Given the description of an element on the screen output the (x, y) to click on. 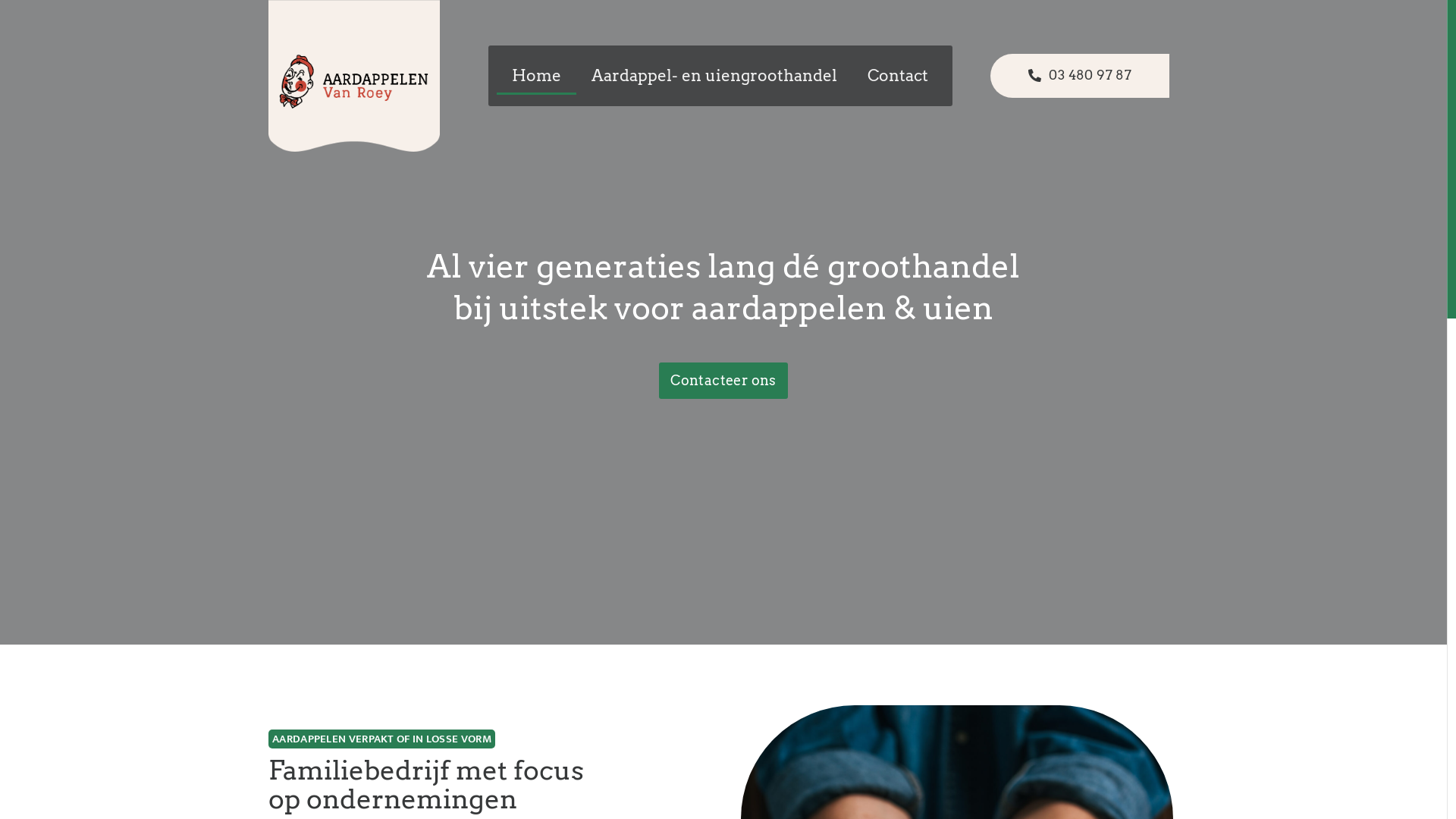
Aardappel- en uiengroothandel Element type: text (714, 75)
Contacteer ons Element type: text (722, 380)
Home Element type: text (536, 75)
Contact Element type: text (897, 75)
03 480 97 87 Element type: text (1079, 75)
